Given the description of an element on the screen output the (x, y) to click on. 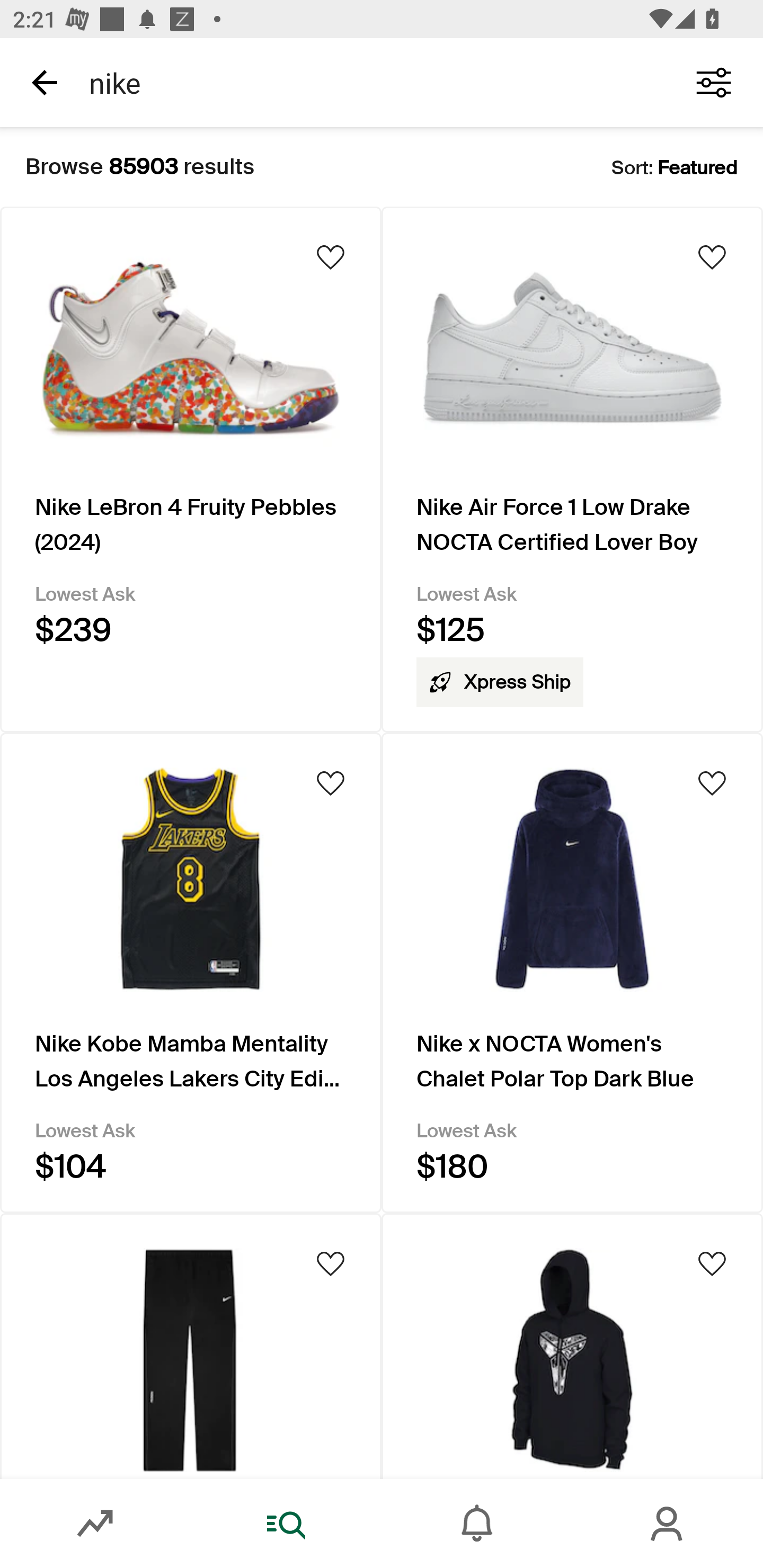
nike (370, 82)
Product Image (190, 1345)
Product Image (572, 1345)
Market (95, 1523)
Inbox (476, 1523)
Account (667, 1523)
